Given the description of an element on the screen output the (x, y) to click on. 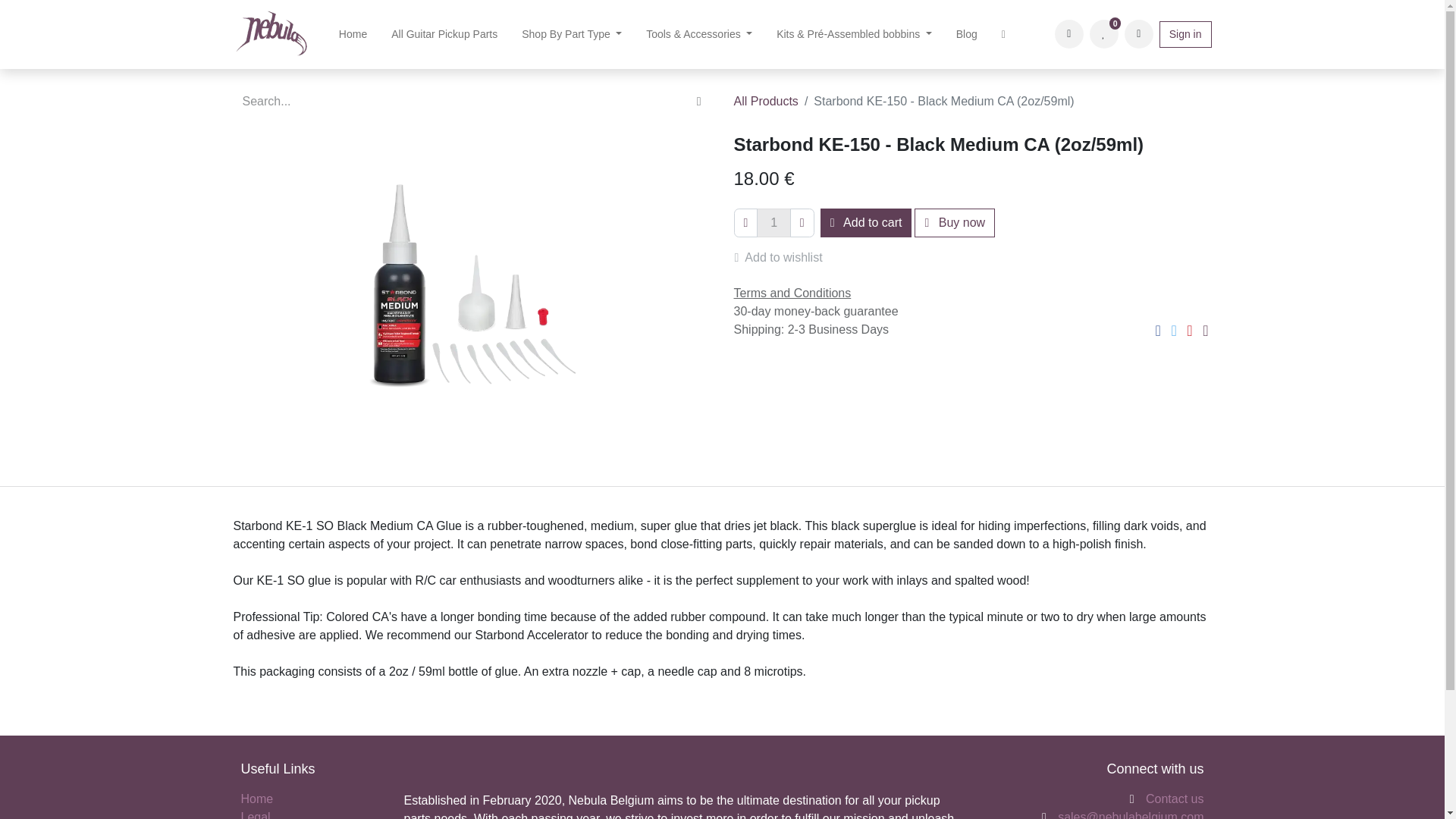
Home (352, 33)
1 (773, 222)
NebulaBelgium (270, 33)
All Guitar Pickup Parts (443, 33)
Shop By Part Type (571, 33)
